Given the description of an element on the screen output the (x, y) to click on. 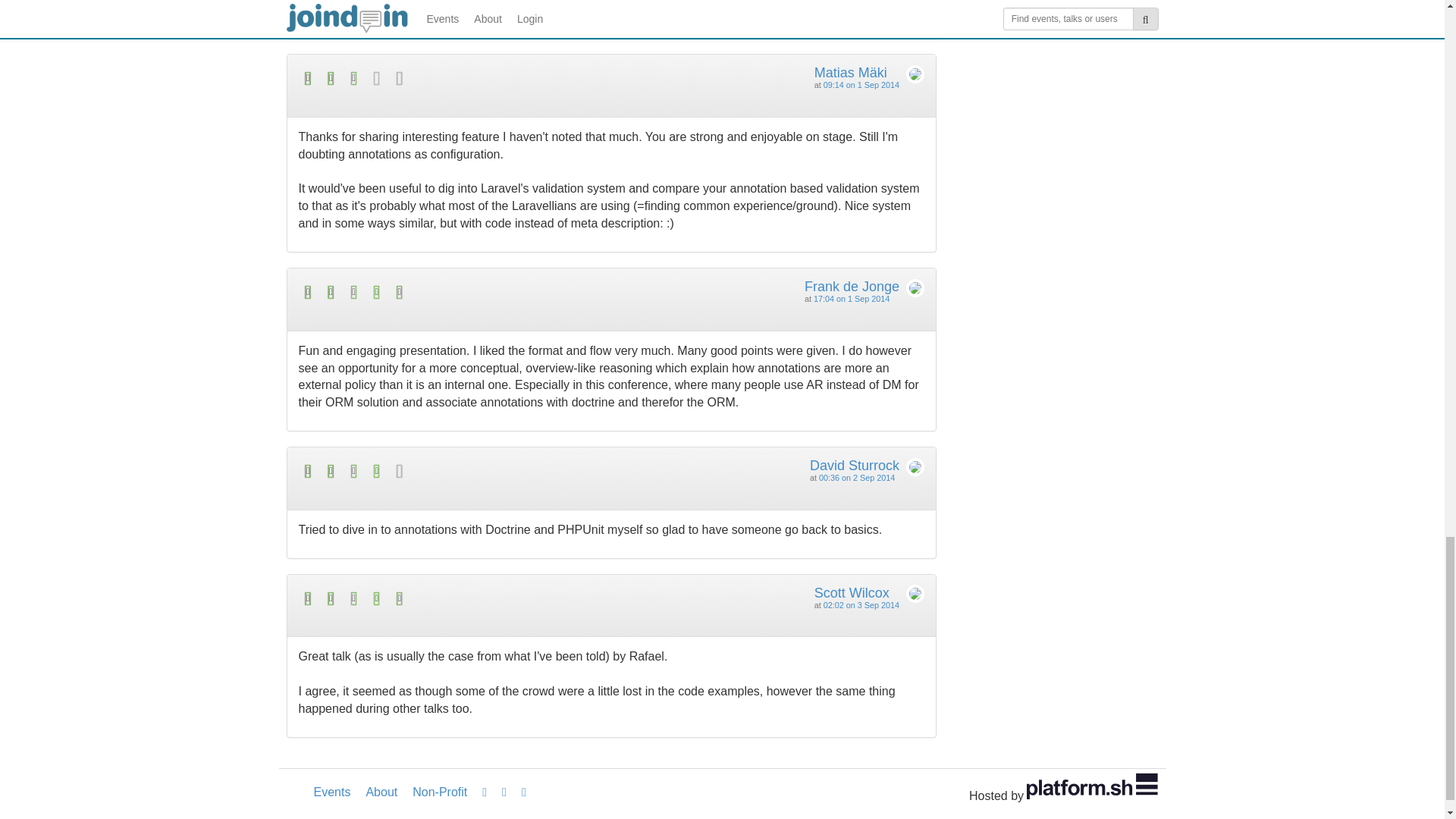
Rated 3 (454, 77)
00:36 on 2 Sep 2014 (856, 477)
02:02 on 3 Sep 2014 (861, 604)
Rated 4 (454, 470)
Rated 5 (454, 598)
17:04 on 1 Sep 2014 (851, 298)
Rated 5 (454, 292)
Scott Wilcox (851, 592)
Frank de Jonge (852, 286)
David Sturrock (854, 465)
09:14 on 1 Sep 2014 (861, 84)
